Given the description of an element on the screen output the (x, y) to click on. 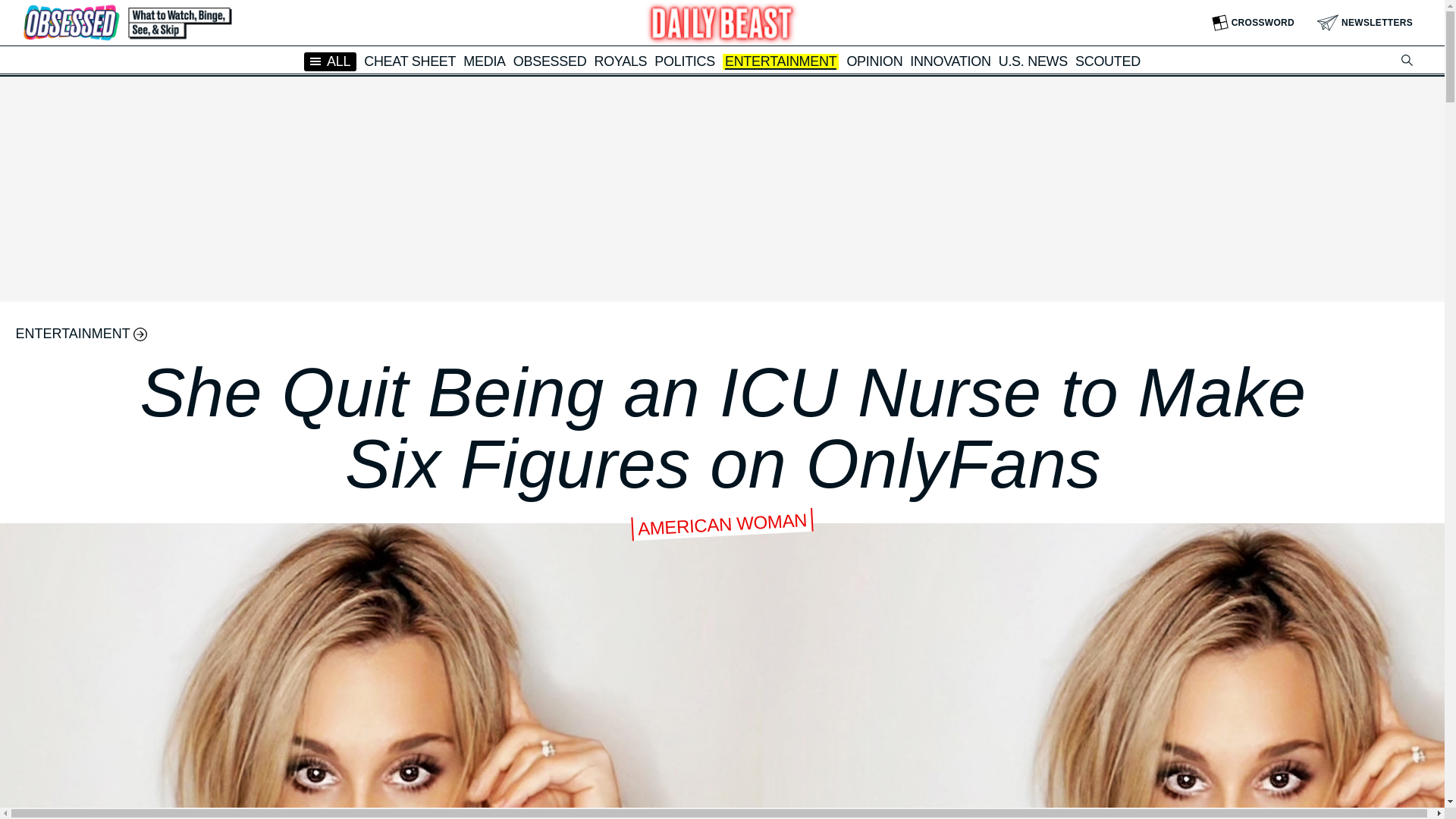
CROSSWORD (1252, 22)
INNOVATION (950, 60)
U.S. NEWS (1032, 60)
MEDIA (484, 60)
ENTERTAINMENT (780, 61)
OBSESSED (549, 60)
SCOUTED (1107, 60)
ALL (330, 60)
OPINION (873, 60)
POLITICS (683, 60)
ROYALS (620, 60)
CHEAT SHEET (409, 60)
NEWSLETTERS (1364, 22)
